Given the description of an element on the screen output the (x, y) to click on. 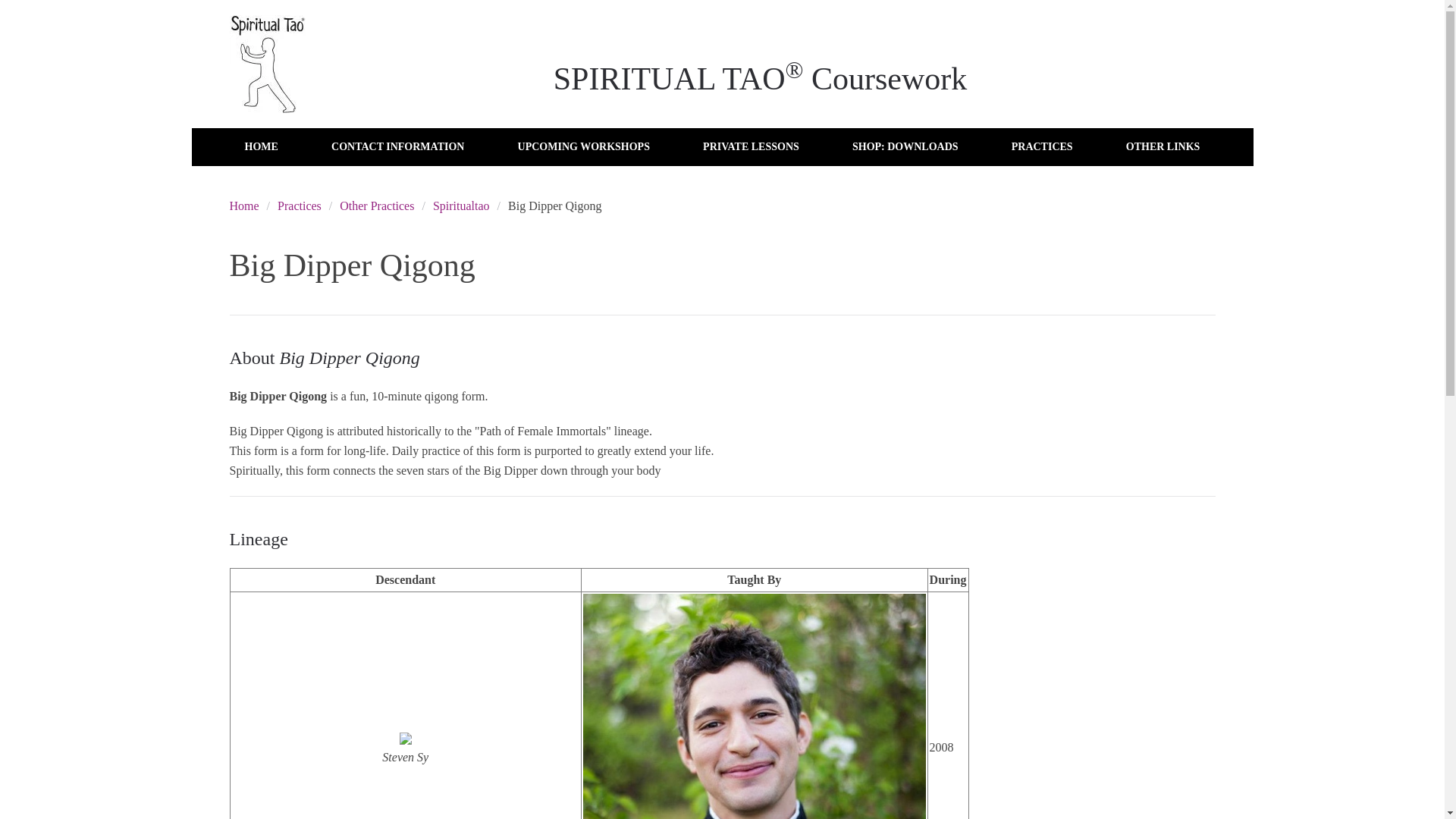
Other Practices (376, 205)
Home (243, 205)
OTHER LINKS (1162, 146)
Spiritualtao (460, 205)
PRIVATE LESSONS (750, 146)
CONTACT INFORMATION (397, 146)
HOME (260, 146)
UPCOMING WORKSHOPS (583, 146)
PRACTICES (1041, 146)
Practices (299, 205)
SHOP: DOWNLOADS (905, 146)
